Given the description of an element on the screen output the (x, y) to click on. 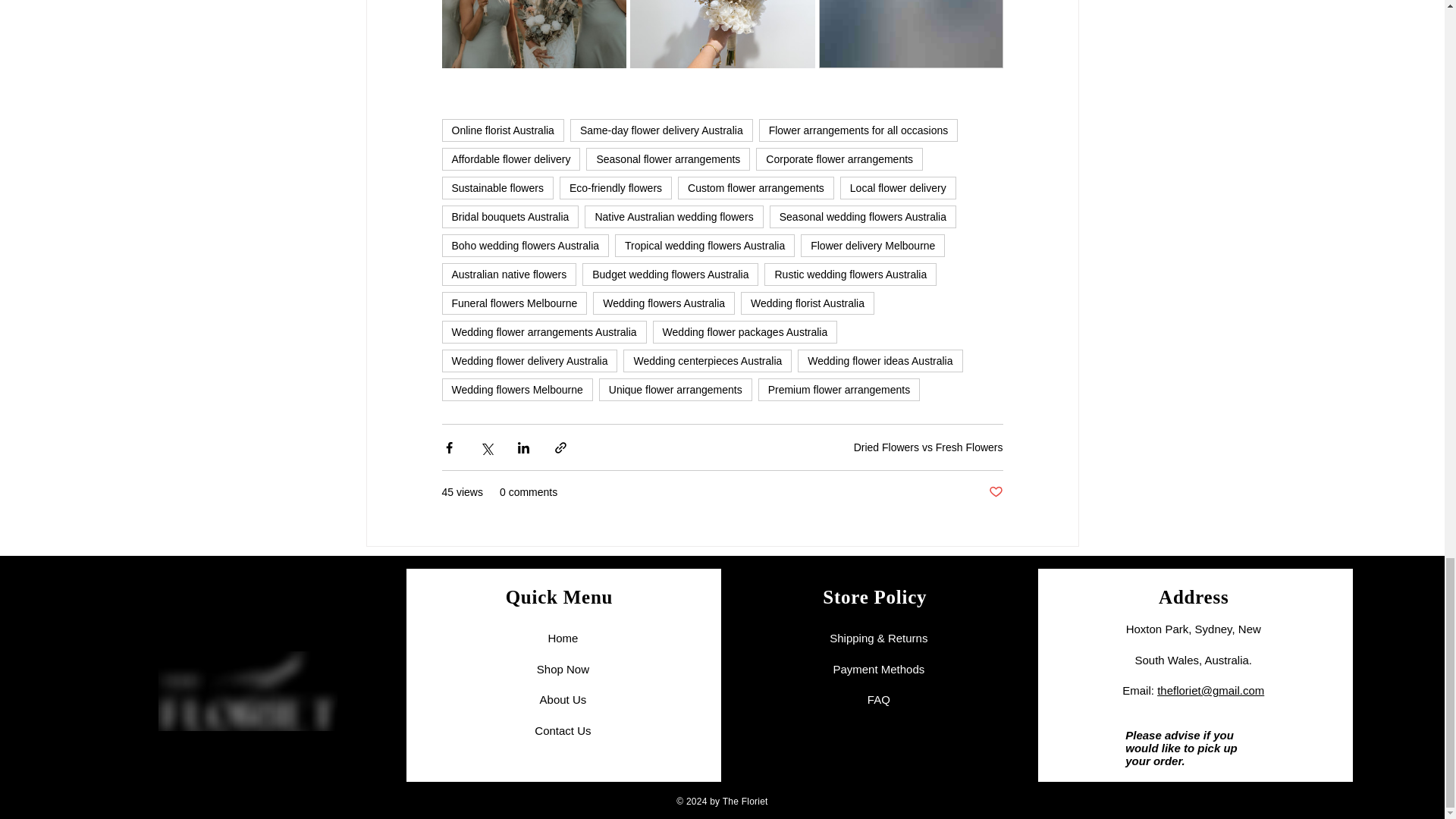
Seasonal flower arrangements (667, 159)
Sustainable flowers (497, 187)
Online florist Australia (502, 129)
Same-day flower delivery Australia (661, 129)
Eco-friendly flowers (615, 187)
Affordable flower delivery (510, 159)
Local flower delivery (898, 187)
Custom flower arrangements (756, 187)
Corporate flower arrangements (839, 159)
Flower arrangements for all occasions (858, 129)
